Given the description of an element on the screen output the (x, y) to click on. 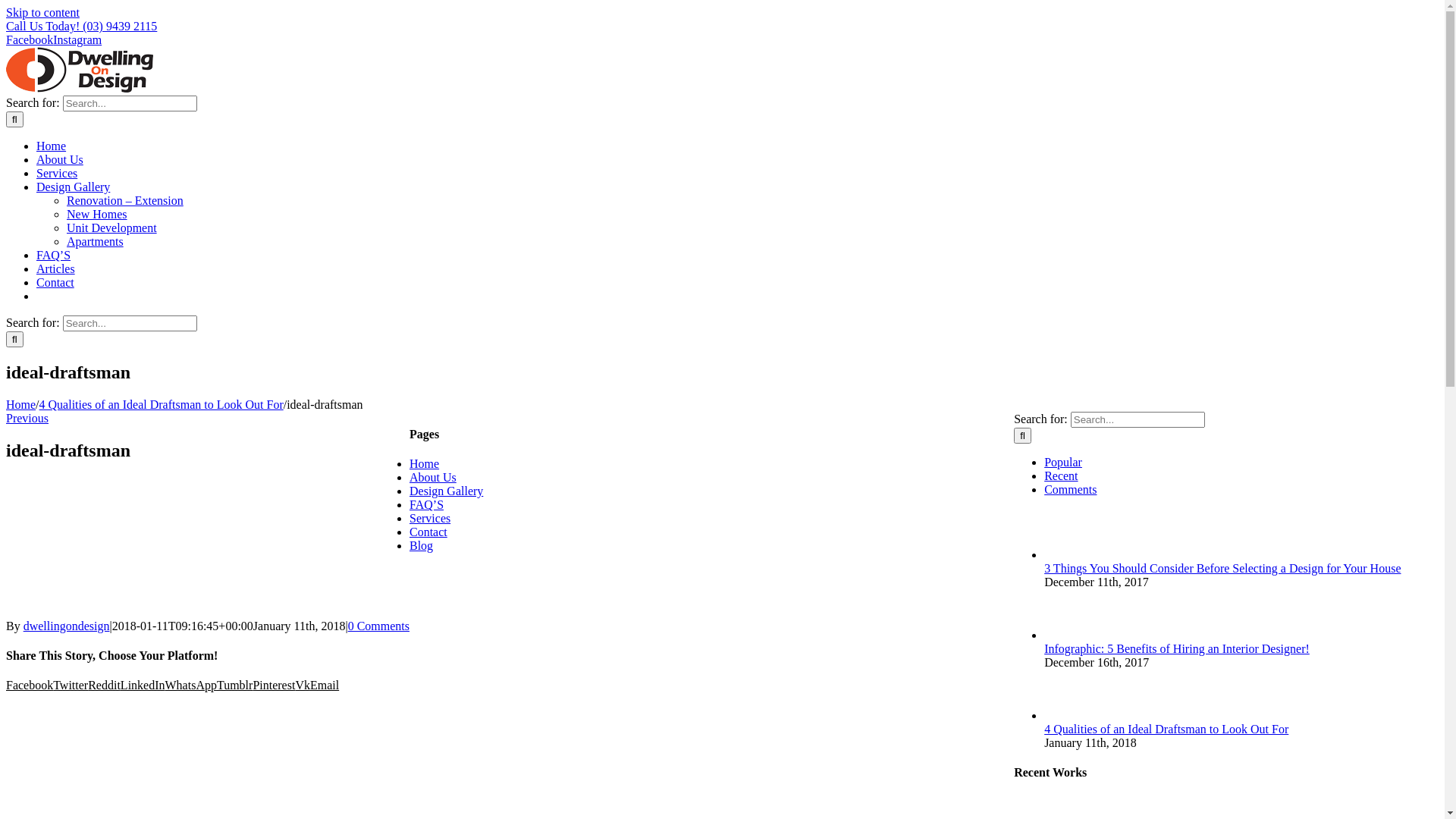
LinkedIn Element type: text (142, 684)
Services Element type: text (429, 517)
About Us Element type: text (59, 159)
Facebook Element type: text (29, 39)
Email Element type: text (324, 684)
Unit Development Element type: text (111, 227)
Comments Element type: text (1070, 489)
0 Comments Element type: text (378, 625)
Infographic: 5 Benefits of Hiring an Interior Designer! Element type: text (1176, 648)
Services Element type: text (56, 172)
Facebook Element type: text (29, 684)
Instagram Element type: text (77, 39)
Skip to content Element type: text (42, 12)
4 Qualities of an Ideal Draftsman to Look Out For Element type: text (1166, 728)
New Homes Element type: text (96, 213)
Blog Element type: text (421, 545)
About Us Element type: text (432, 476)
Call Us Today! (03) 9439 2115 Element type: text (81, 25)
4 Qualities of an Ideal Draftsman to Look Out For Element type: text (161, 404)
WhatsApp Element type: text (190, 684)
Design Gallery Element type: text (446, 490)
Reddit Element type: text (103, 684)
Design Gallery Element type: text (72, 186)
Recent Element type: text (1060, 475)
Vk Element type: text (302, 684)
dwellingondesign Element type: text (66, 625)
Home Element type: text (424, 463)
Twitter Element type: text (70, 684)
Contact Element type: text (428, 531)
Articles Element type: text (55, 268)
Contact Element type: text (55, 282)
Apartments Element type: text (94, 241)
Previous Element type: text (27, 417)
Popular Element type: text (1063, 461)
Pinterest Element type: text (273, 684)
Tumblr Element type: text (234, 684)
Home Element type: text (50, 145)
Home Element type: text (20, 404)
